Given the description of an element on the screen output the (x, y) to click on. 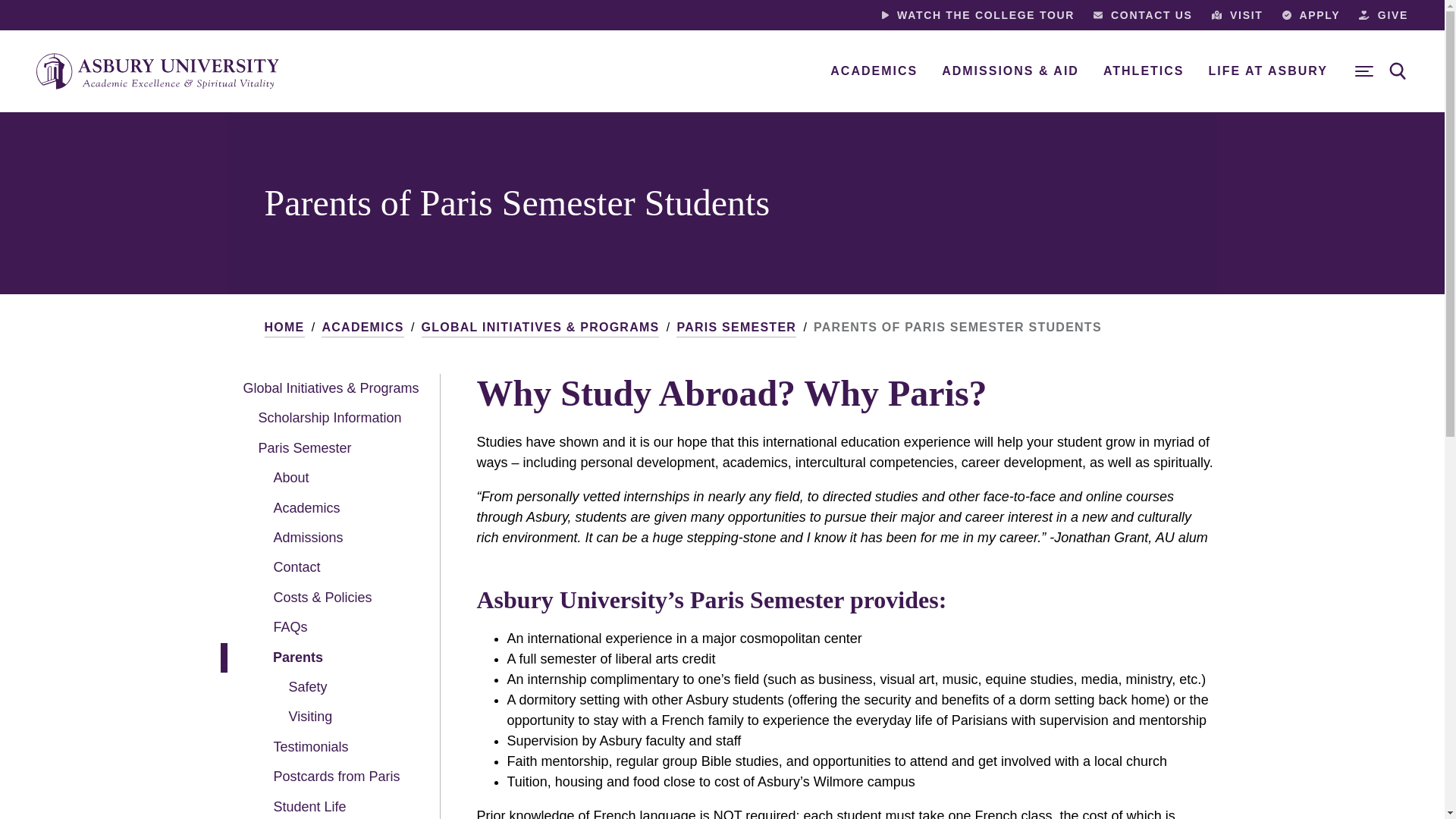
GIVE (1382, 15)
Asbury University (157, 71)
WATCH THE COLLEGE TOUR (978, 15)
CONTACT US (1142, 15)
Scholarship Information (326, 418)
PARIS SEMESTER (736, 327)
ACADEMICS (873, 70)
HOME (283, 327)
LIFE AT ASBURY (1267, 70)
ACADEMICS (362, 327)
